Given the description of an element on the screen output the (x, y) to click on. 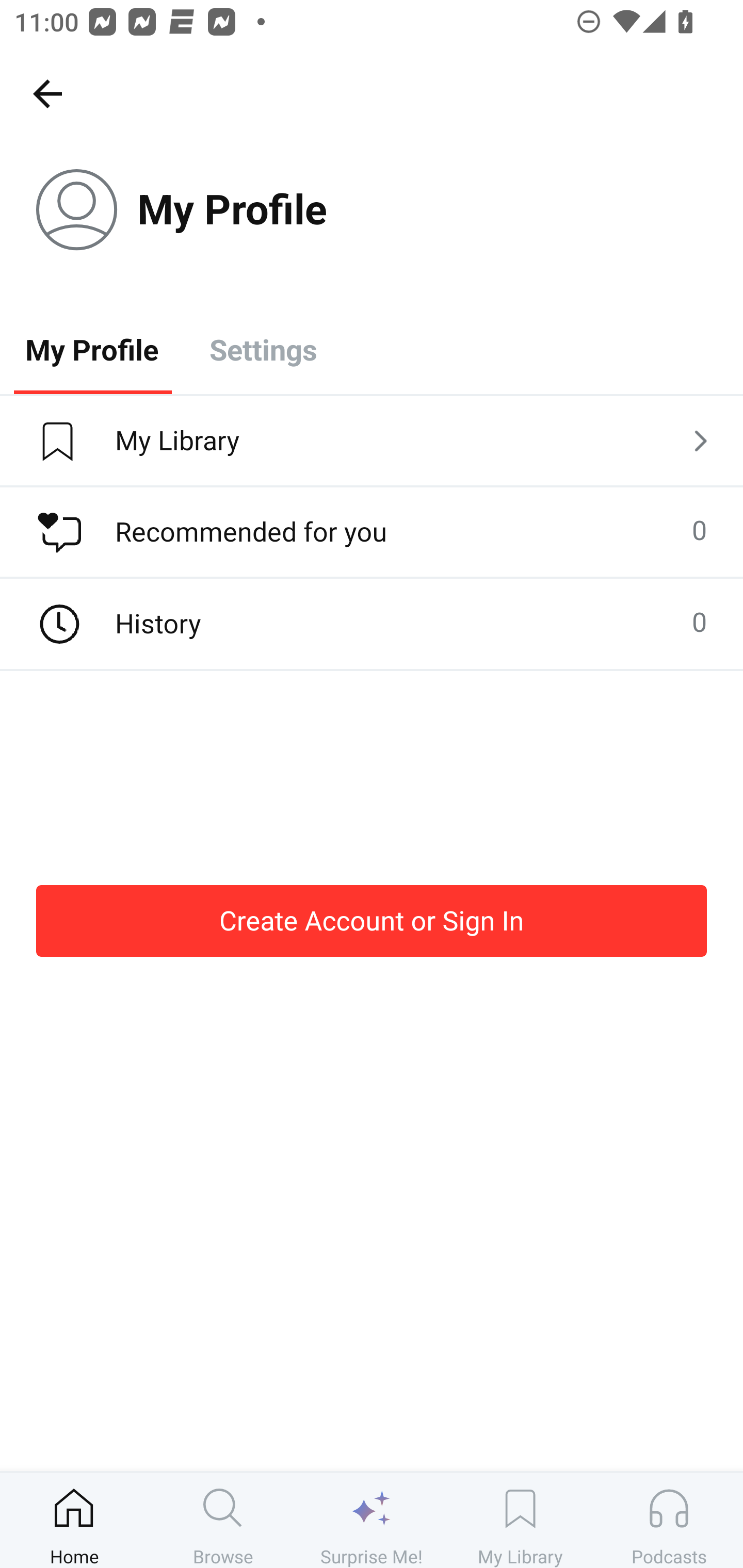
Home, back (47, 92)
My Profile (92, 348)
Settings (263, 348)
My Library (371, 441)
Recommended for you 0 (371, 532)
History 0 (371, 623)
Create Account or Sign In (371, 920)
Home (74, 1520)
Browse (222, 1520)
Surprise Me! (371, 1520)
My Library (519, 1520)
Podcasts (668, 1520)
